Given the description of an element on the screen output the (x, y) to click on. 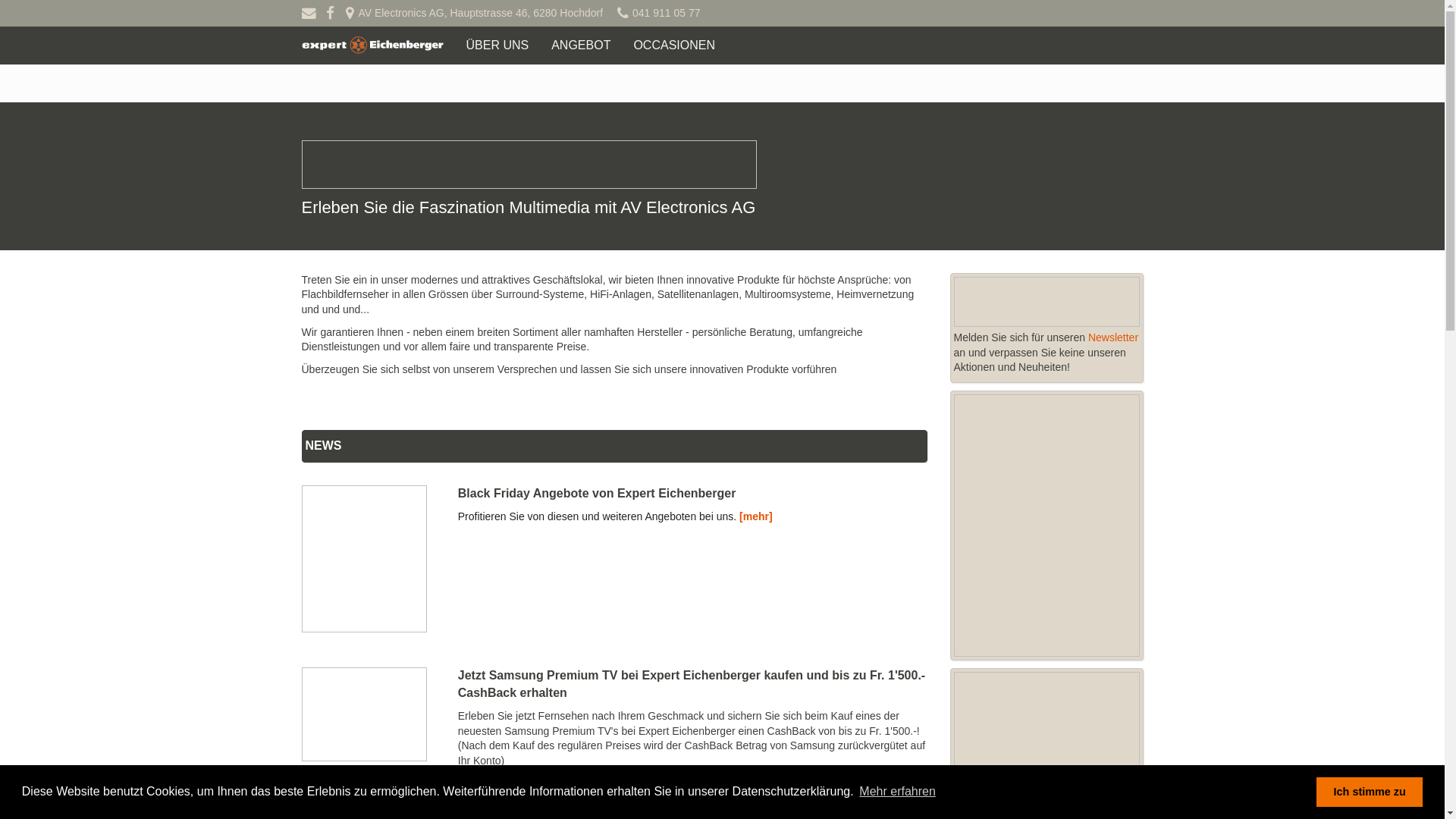
Facebook Element type: hover (330, 12)
Newsletter Element type: text (1113, 337)
Ich stimme zu Element type: text (1369, 791)
ANGEBOT Element type: text (580, 45)
[mehr] Element type: text (656, 775)
Mehr erfahren Element type: text (897, 791)
[mehr] Element type: text (755, 516)
OCCASIONEN Element type: text (673, 45)
